Given the description of an element on the screen output the (x, y) to click on. 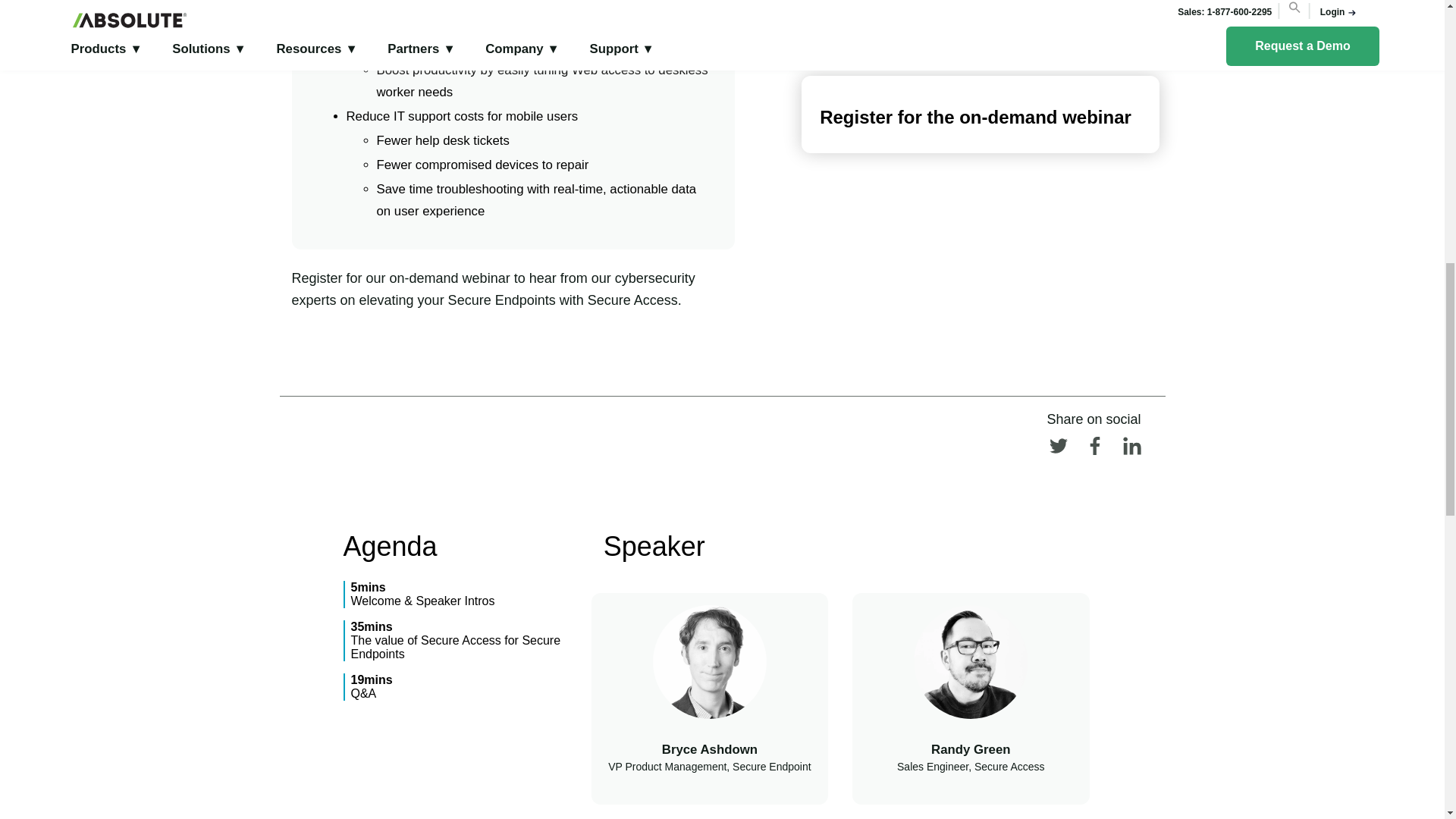
Share this on LinkedIn (1123, 450)
Share this on Facebook (1088, 450)
Share this on Twitter (1051, 450)
